Given the description of an element on the screen output the (x, y) to click on. 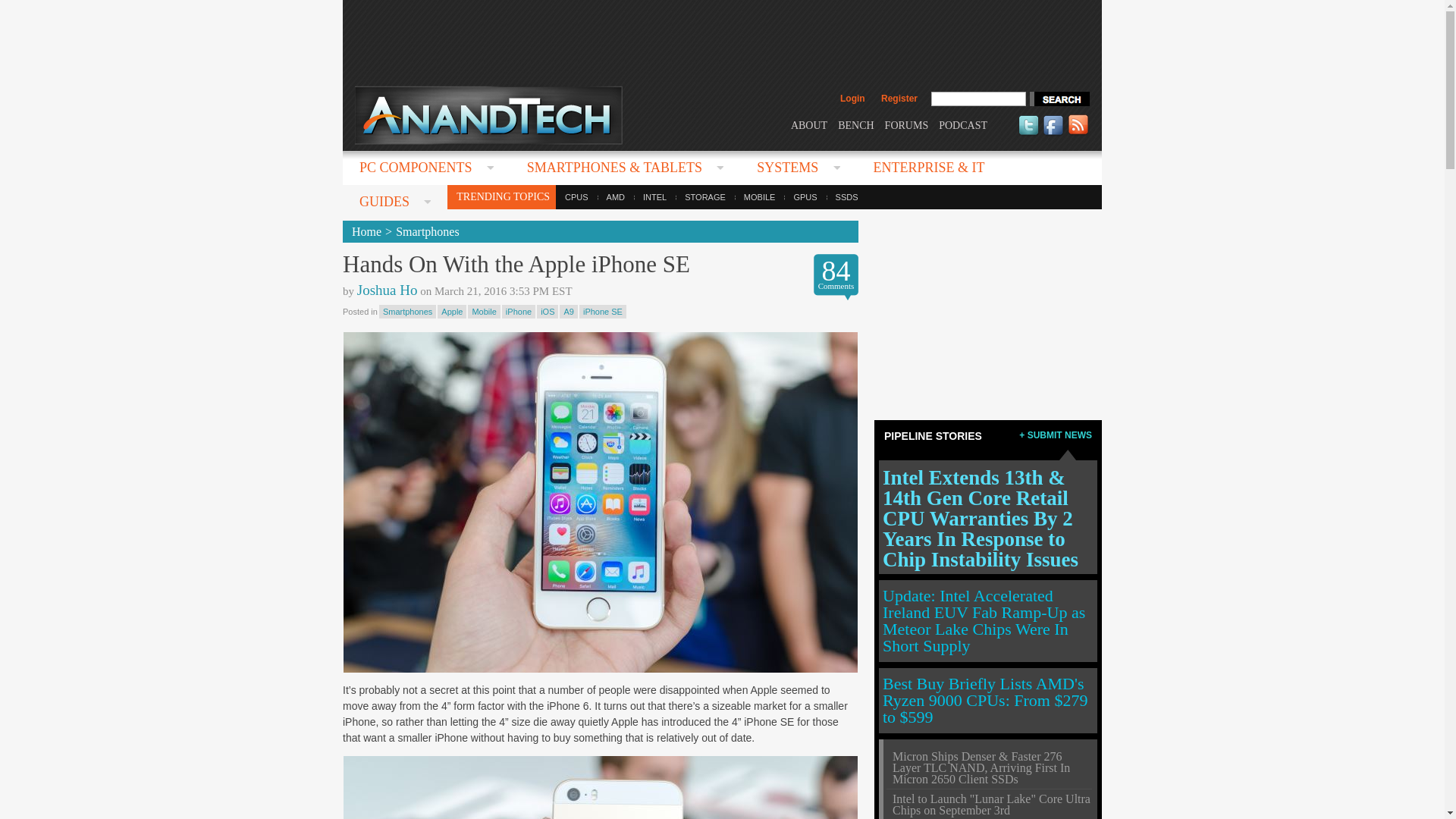
FORUMS (906, 125)
PODCAST (963, 125)
search (1059, 98)
Login (852, 98)
BENCH (855, 125)
Register (898, 98)
search (1059, 98)
search (1059, 98)
ABOUT (808, 125)
